Given the description of an element on the screen output the (x, y) to click on. 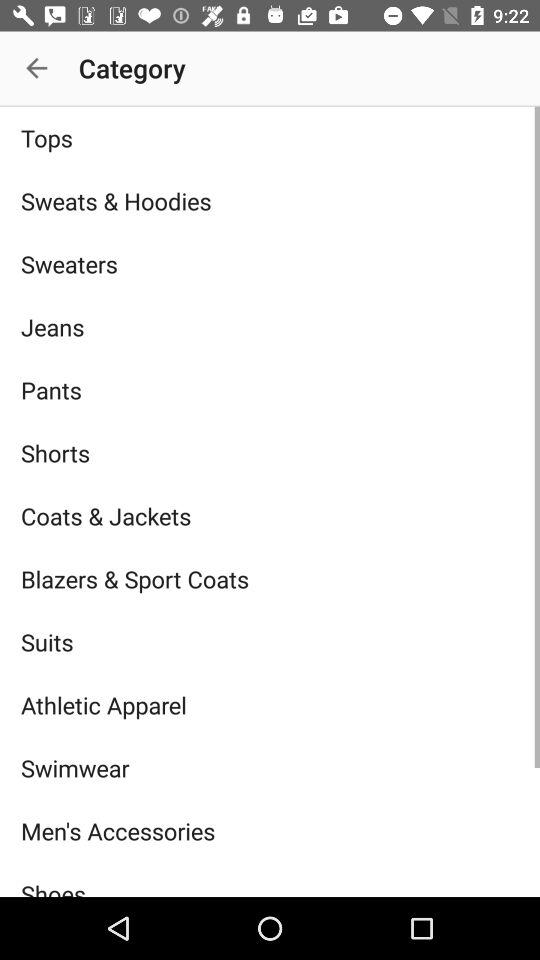
click item below suits item (270, 704)
